Given the description of an element on the screen output the (x, y) to click on. 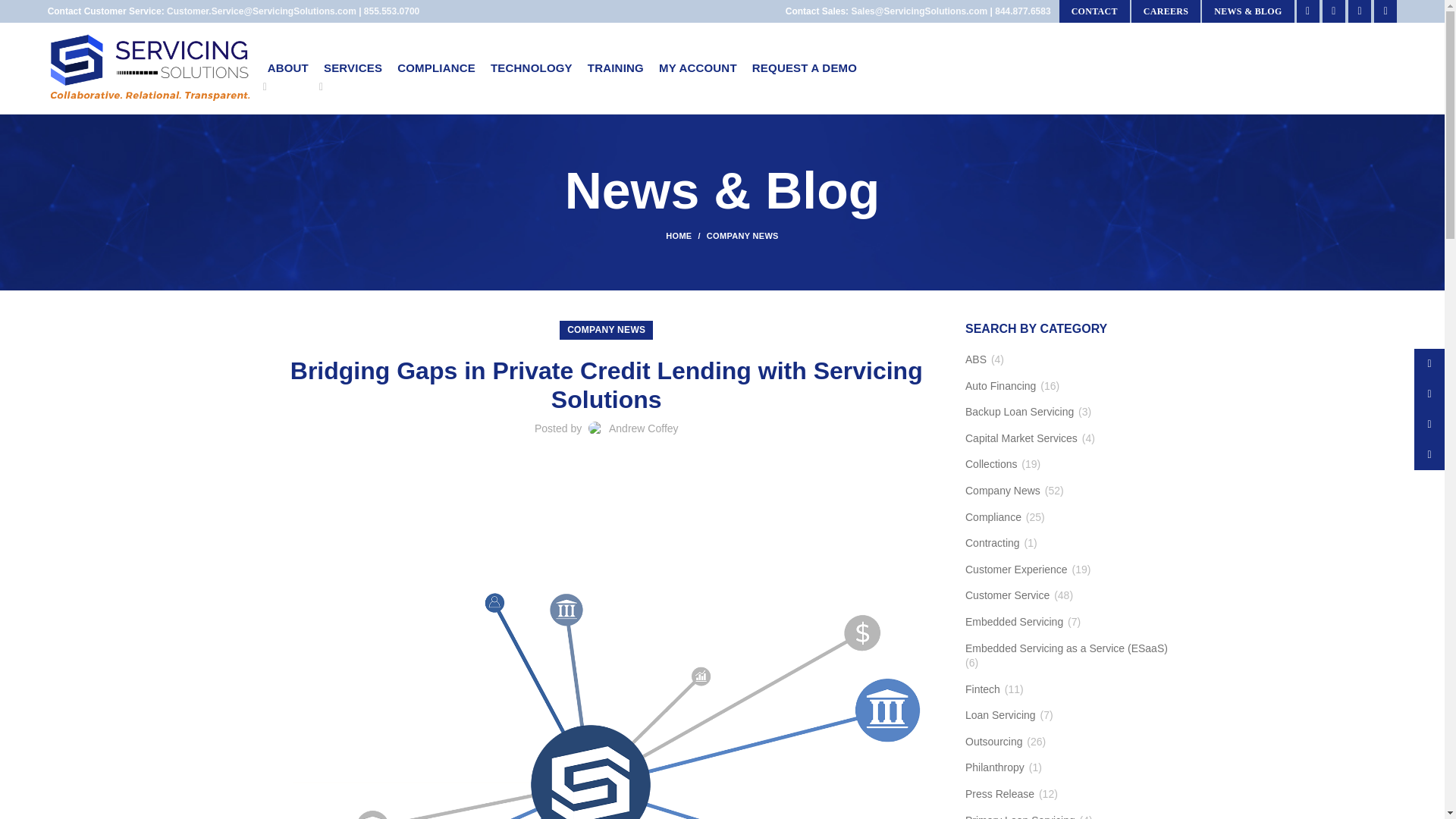
SERVICES (352, 68)
855.553.0700 (391, 10)
844.877.6583 (1021, 10)
COMPANY NEWS (742, 235)
TECHNOLOGY (531, 68)
TRAINING (614, 68)
HOME (685, 235)
CONTACT (1094, 11)
COMPANY NEWS (606, 330)
Twitter (1333, 11)
Andrew Coffey (643, 428)
linkedin (1385, 11)
CAREERS (1165, 11)
REQUEST A DEMO (804, 68)
COMPLIANCE (436, 68)
